Given the description of an element on the screen output the (x, y) to click on. 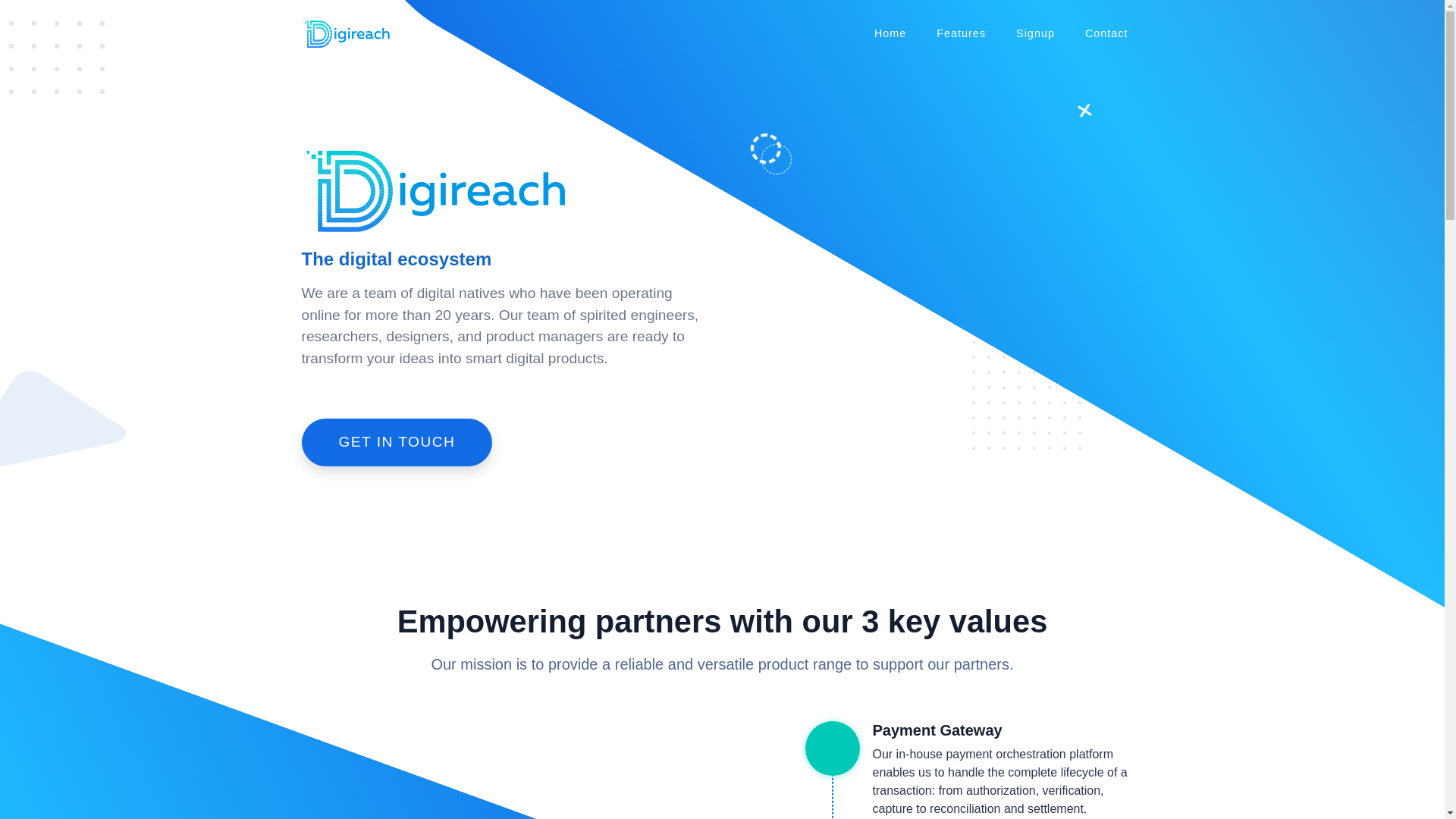
Signup (1035, 33)
Features (961, 33)
Contact (1106, 33)
GET IN TOUCH (397, 442)
Home (890, 33)
